Given the description of an element on the screen output the (x, y) to click on. 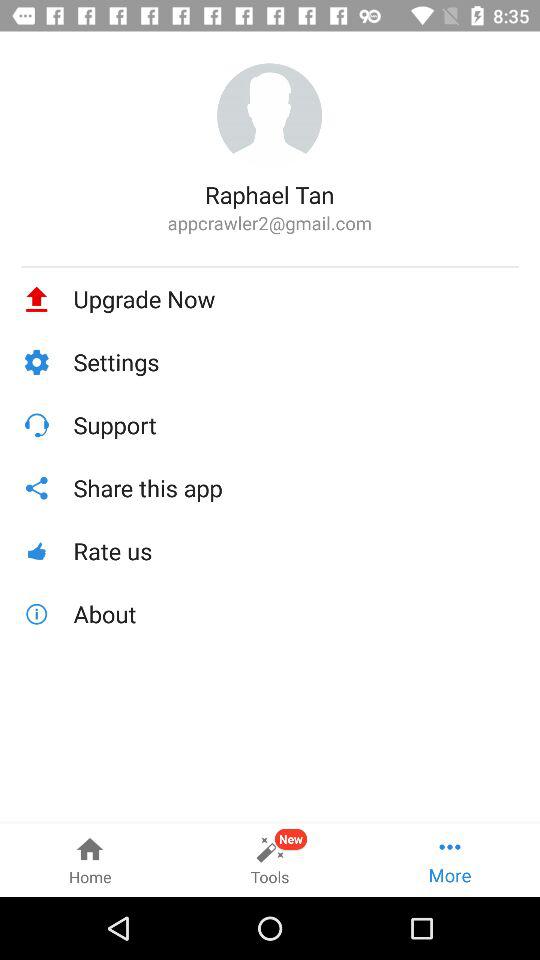
turn off item above the raphael tan item (269, 115)
